Given the description of an element on the screen output the (x, y) to click on. 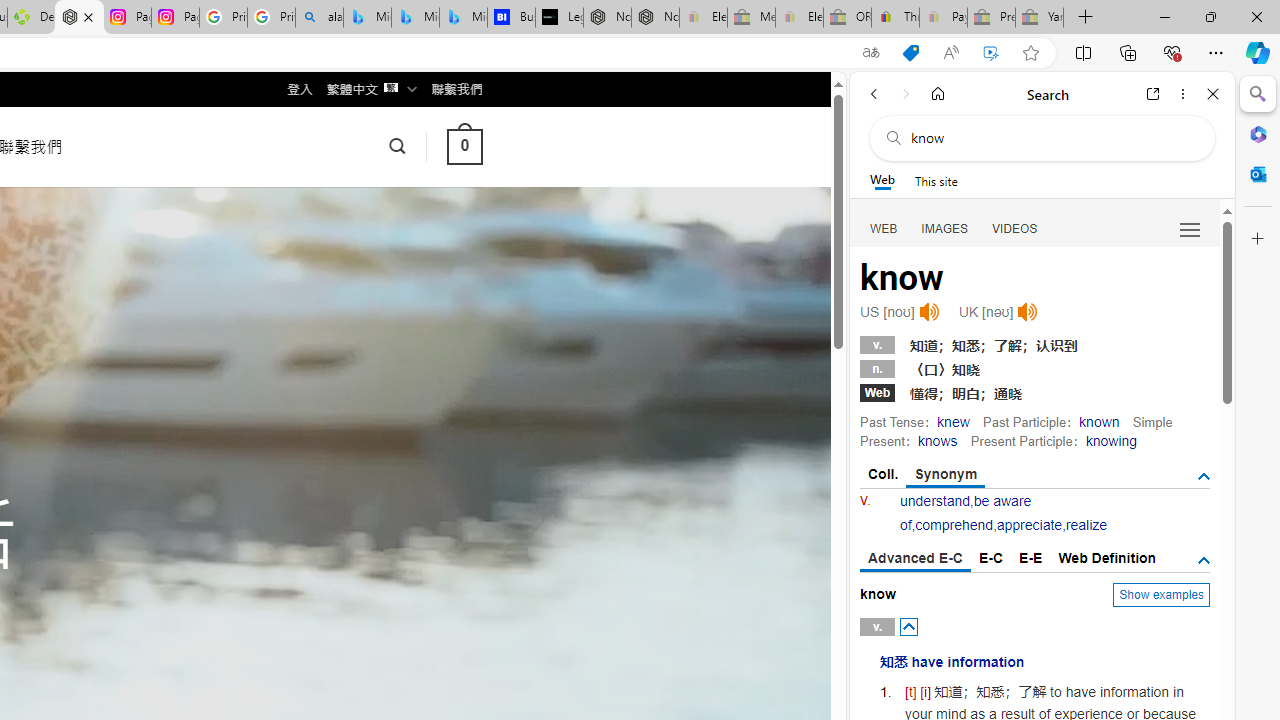
Enhance video (991, 53)
Microsoft Bing Travel - Flights from Hong Kong to Bangkok (367, 17)
